Given the description of an element on the screen output the (x, y) to click on. 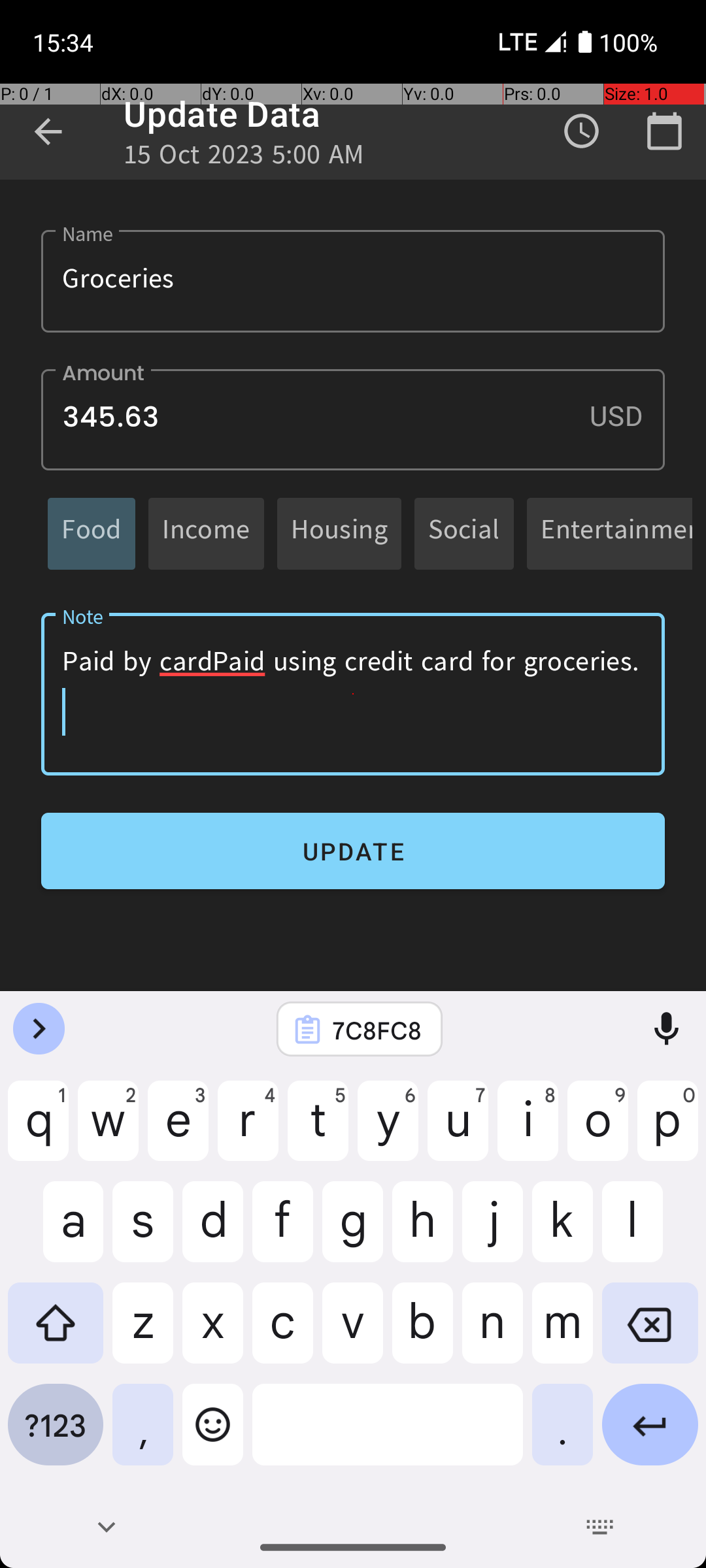
15 Oct 2023 5:00 AM Element type: android.widget.TextView (243, 157)
Groceries Element type: android.widget.EditText (352, 280)
345.63 Element type: android.widget.EditText (352, 419)
Paid by cardPaid using credit card for groceries.
 Element type: android.widget.EditText (352, 693)
7C8FC8 Element type: android.widget.TextView (376, 1029)
